Given the description of an element on the screen output the (x, y) to click on. 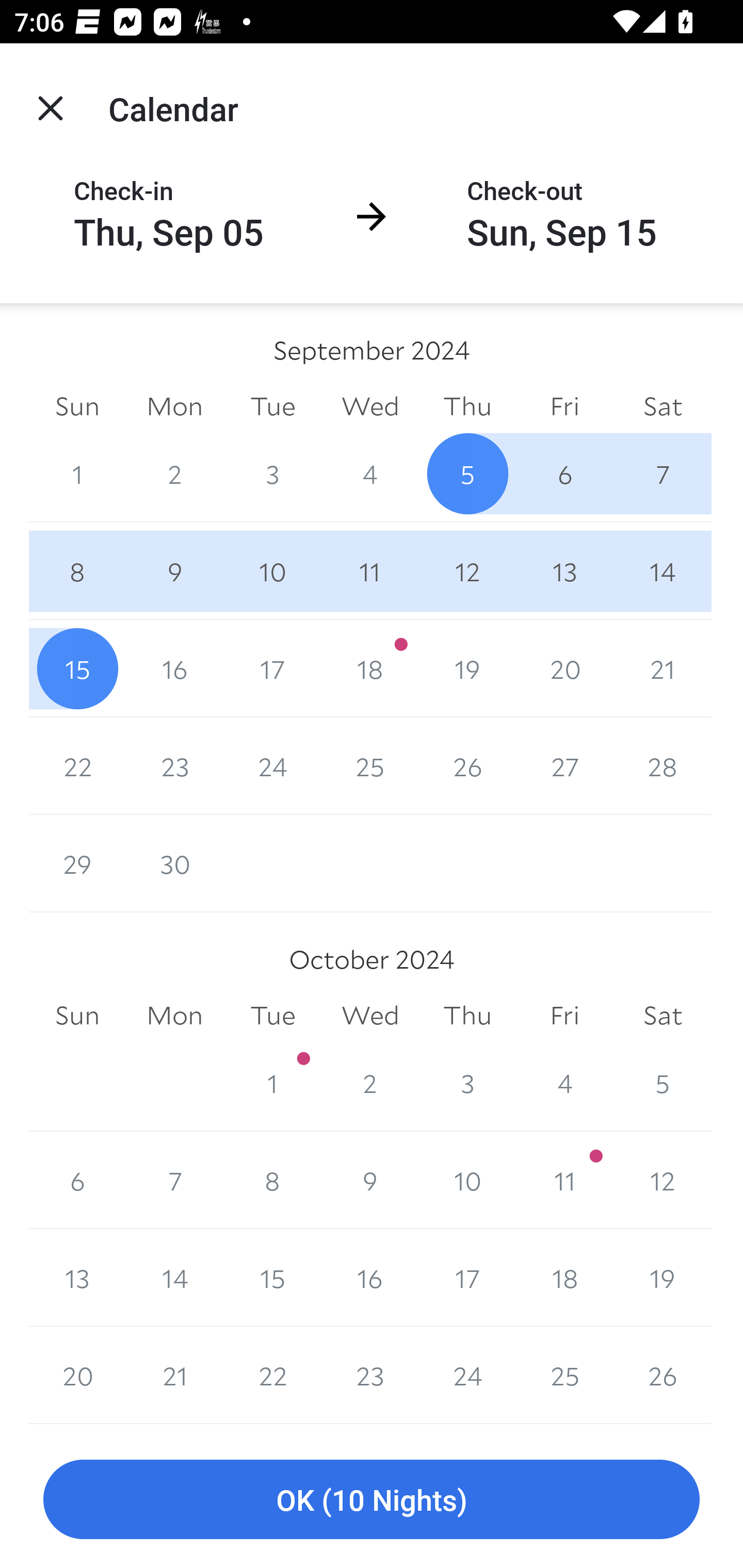
Sun (77, 405)
Mon (174, 405)
Tue (272, 405)
Wed (370, 405)
Thu (467, 405)
Fri (564, 405)
Sat (662, 405)
1 1 September 2024 (77, 473)
2 2 September 2024 (174, 473)
3 3 September 2024 (272, 473)
4 4 September 2024 (370, 473)
5 5 September 2024 (467, 473)
6 6 September 2024 (564, 473)
7 7 September 2024 (662, 473)
8 8 September 2024 (77, 570)
9 9 September 2024 (174, 570)
10 10 September 2024 (272, 570)
11 11 September 2024 (370, 570)
12 12 September 2024 (467, 570)
13 13 September 2024 (564, 570)
14 14 September 2024 (662, 570)
15 15 September 2024 (77, 668)
16 16 September 2024 (174, 668)
17 17 September 2024 (272, 668)
18 18 September 2024 (370, 668)
19 19 September 2024 (467, 668)
20 20 September 2024 (564, 668)
21 21 September 2024 (662, 668)
22 22 September 2024 (77, 766)
23 23 September 2024 (174, 766)
24 24 September 2024 (272, 766)
25 25 September 2024 (370, 766)
26 26 September 2024 (467, 766)
27 27 September 2024 (564, 766)
28 28 September 2024 (662, 766)
29 29 September 2024 (77, 863)
30 30 September 2024 (174, 863)
Sun (77, 1015)
Mon (174, 1015)
Tue (272, 1015)
Wed (370, 1015)
Thu (467, 1015)
Fri (564, 1015)
Sat (662, 1015)
1 1 October 2024 (272, 1083)
2 2 October 2024 (370, 1083)
3 3 October 2024 (467, 1083)
4 4 October 2024 (564, 1083)
5 5 October 2024 (662, 1083)
6 6 October 2024 (77, 1180)
7 7 October 2024 (174, 1180)
8 8 October 2024 (272, 1180)
9 9 October 2024 (370, 1180)
10 10 October 2024 (467, 1180)
11 11 October 2024 (564, 1180)
12 12 October 2024 (662, 1180)
13 13 October 2024 (77, 1277)
14 14 October 2024 (174, 1277)
15 15 October 2024 (272, 1277)
16 16 October 2024 (370, 1277)
17 17 October 2024 (467, 1277)
18 18 October 2024 (564, 1277)
19 19 October 2024 (662, 1277)
20 20 October 2024 (77, 1374)
21 21 October 2024 (174, 1374)
22 22 October 2024 (272, 1374)
23 23 October 2024 (370, 1374)
24 24 October 2024 (467, 1374)
25 25 October 2024 (564, 1374)
26 26 October 2024 (662, 1374)
OK (10 Nights) (371, 1499)
